Given the description of an element on the screen output the (x, y) to click on. 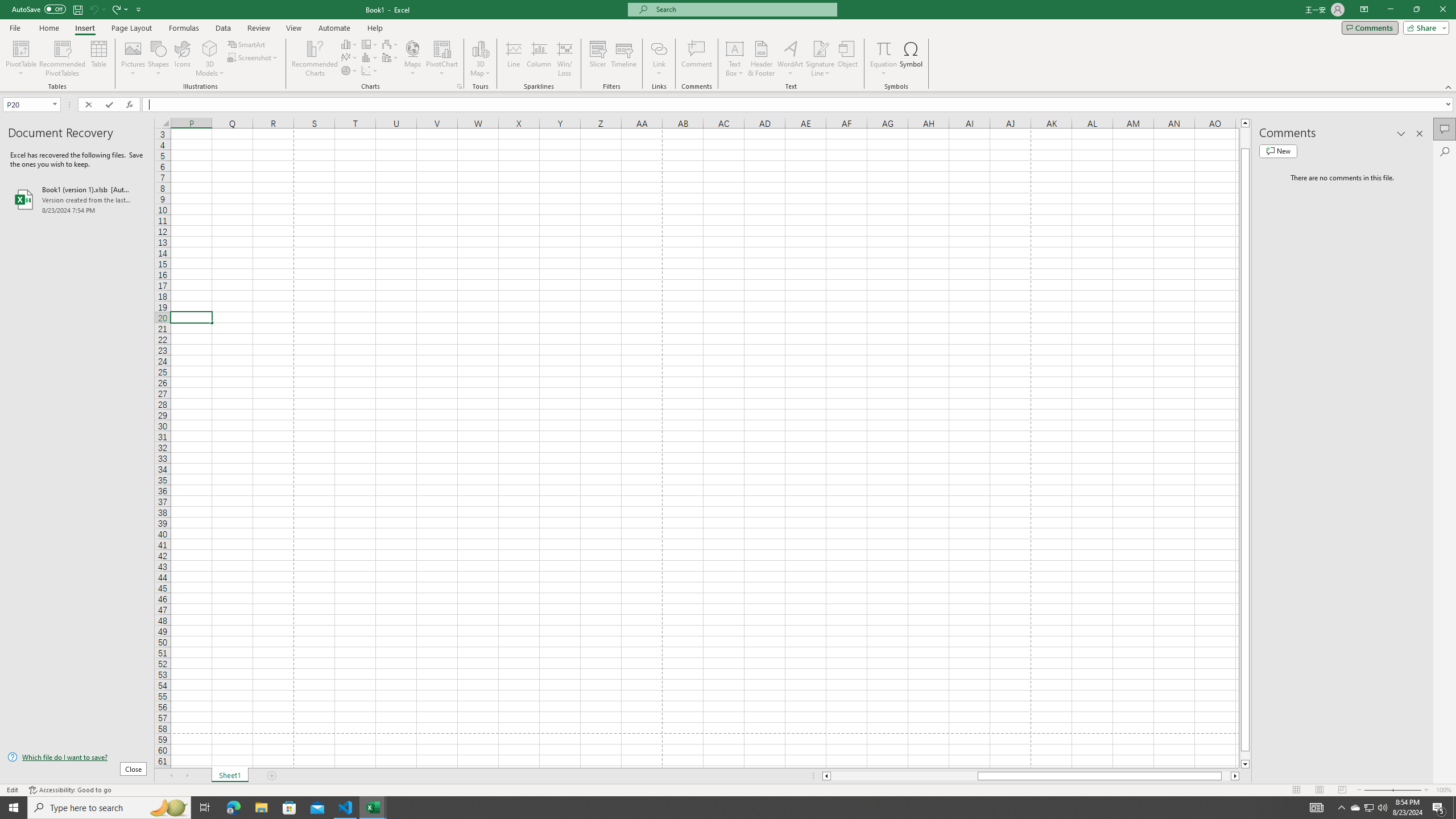
PivotChart (442, 48)
Table (98, 58)
Column (539, 58)
Signature Line (820, 58)
Maps (412, 58)
Signature Line (820, 48)
Recommended PivotTables (62, 58)
Page up (1245, 137)
Object... (847, 58)
Slicer... (597, 58)
